Given the description of an element on the screen output the (x, y) to click on. 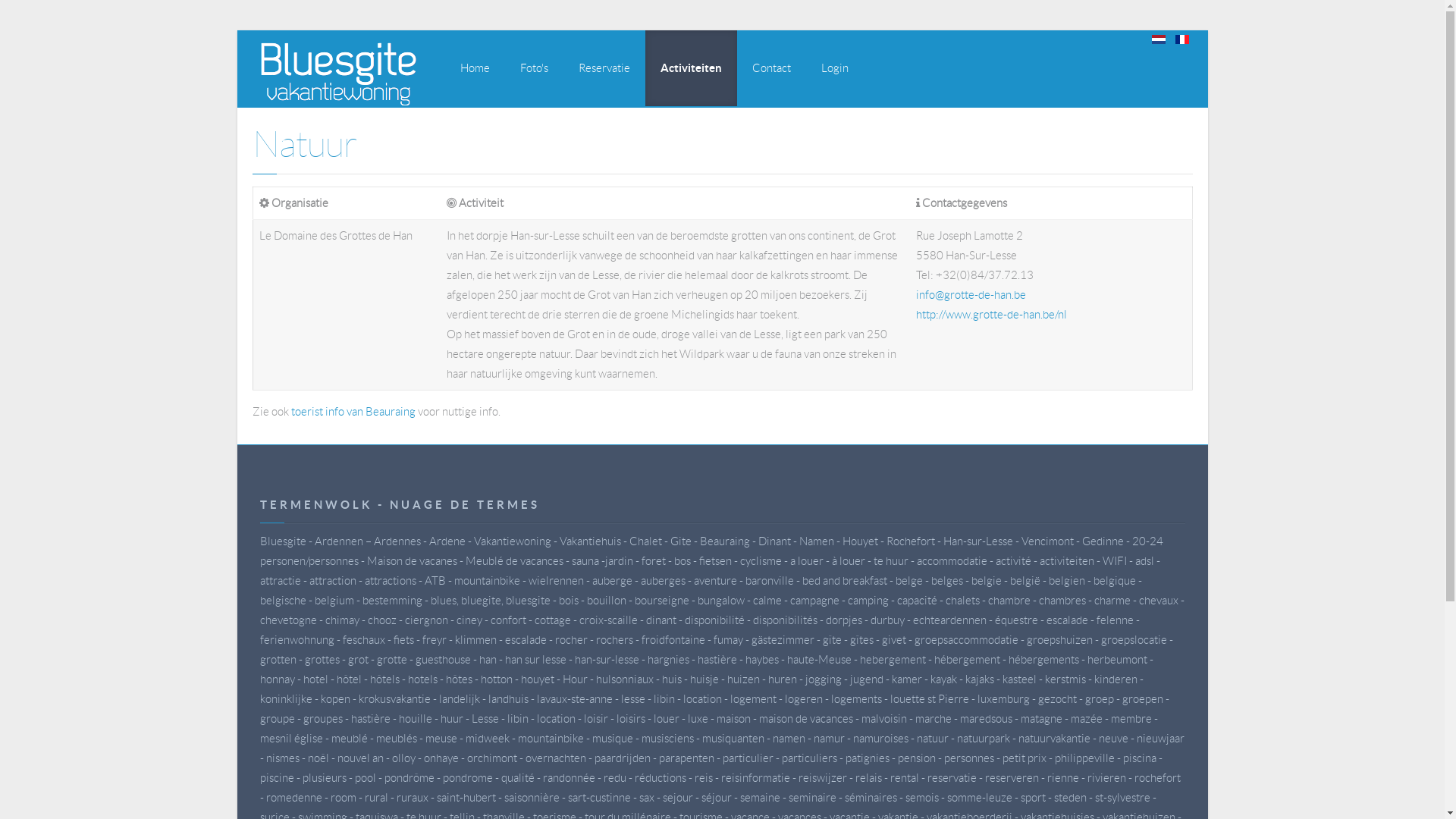
toerist info van Beauraing Element type: text (353, 411)
Home Element type: text (474, 68)
http://www.grotte-de-han.be/nl Element type: text (991, 324)
Nederlands Element type: hover (1157, 38)
info@grotte-de-han.be Element type: text (971, 294)
Foto's Element type: text (534, 68)
Contact Element type: text (771, 68)
Login Element type: text (833, 68)
